Given the description of an element on the screen output the (x, y) to click on. 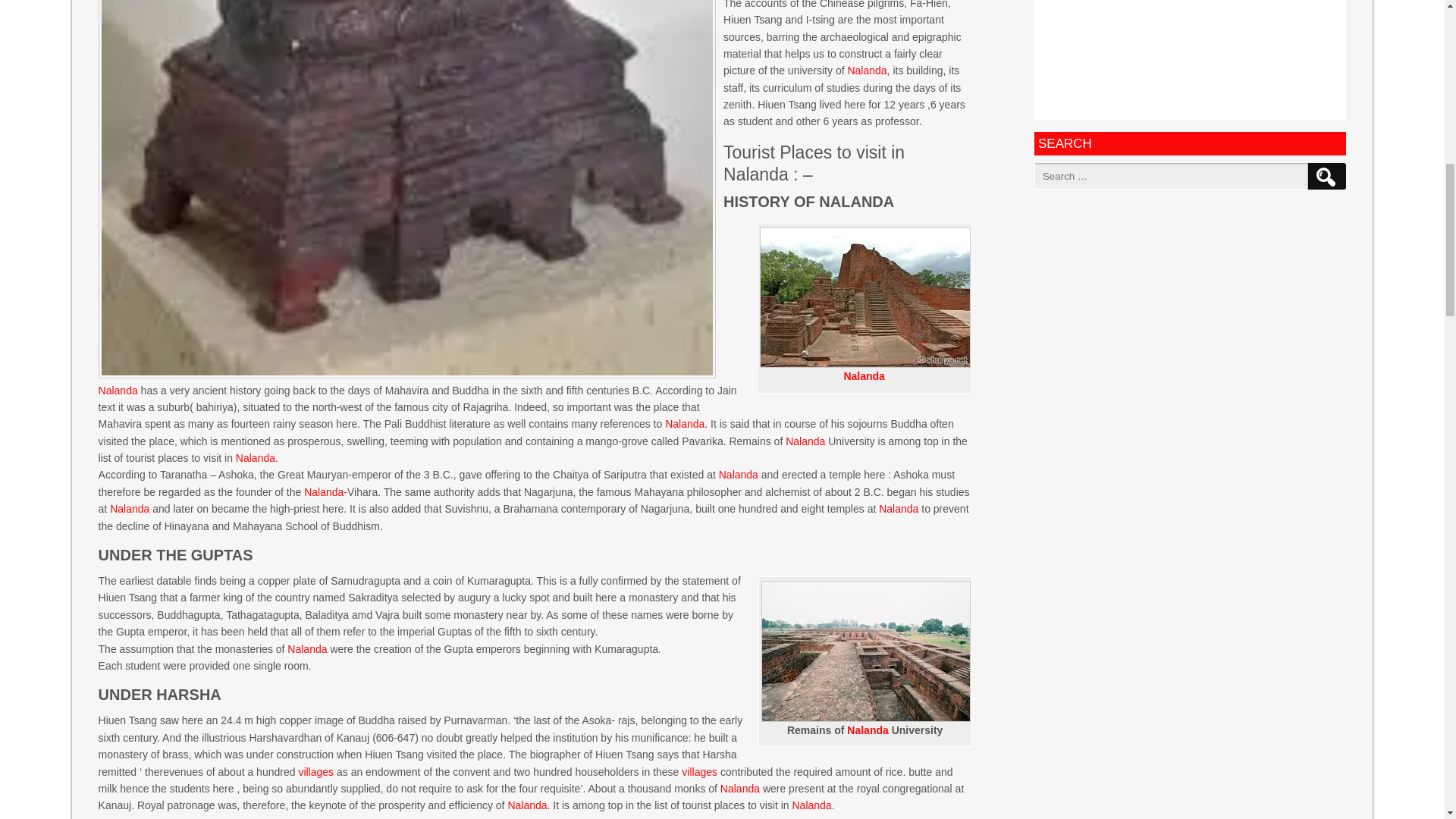
Search (1324, 175)
Advertisement (1189, 60)
Search (1324, 175)
